Given the description of an element on the screen output the (x, y) to click on. 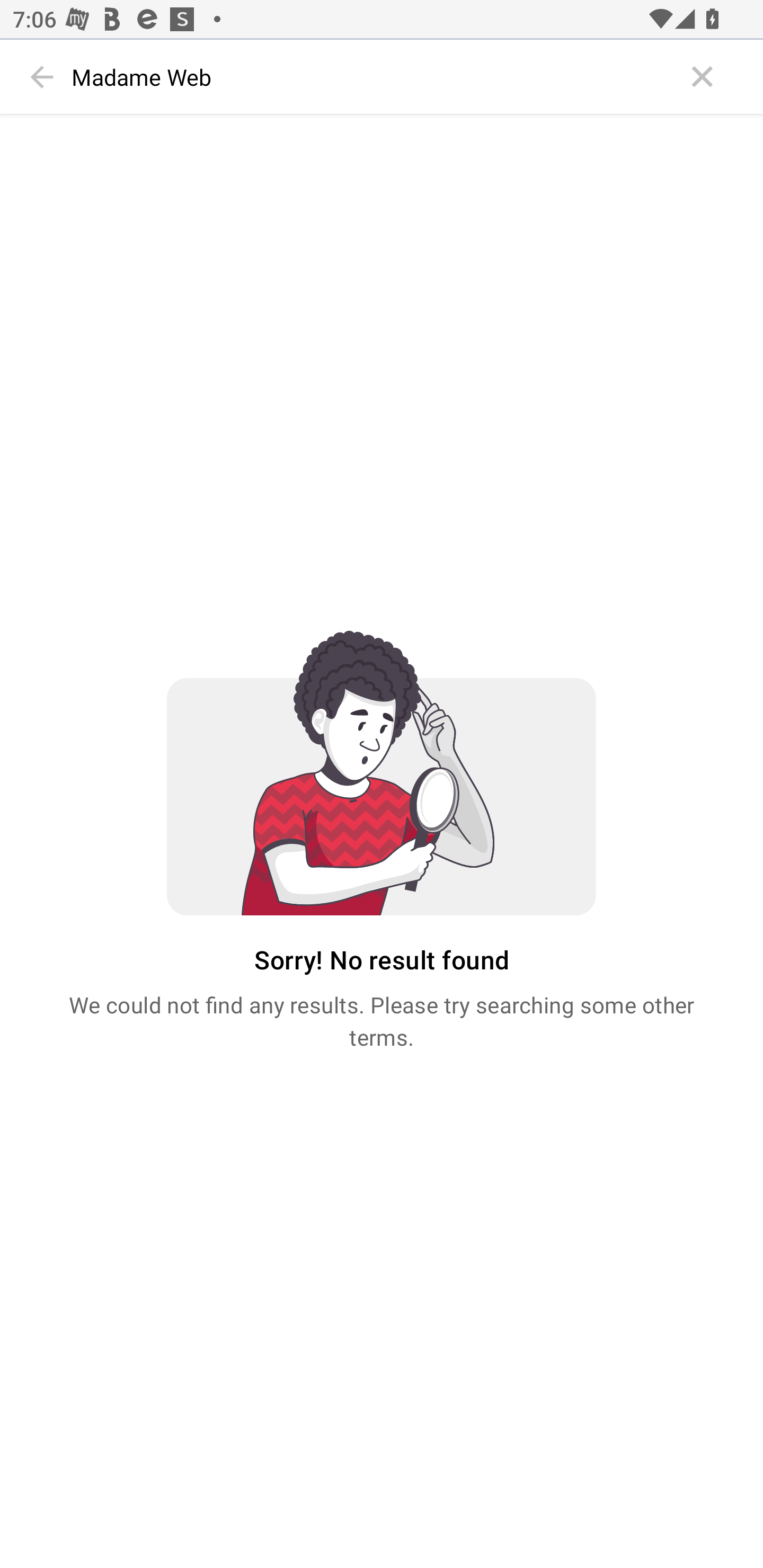
Back (42, 76)
Madame Web (373, 76)
Close (702, 76)
